Given the description of an element on the screen output the (x, y) to click on. 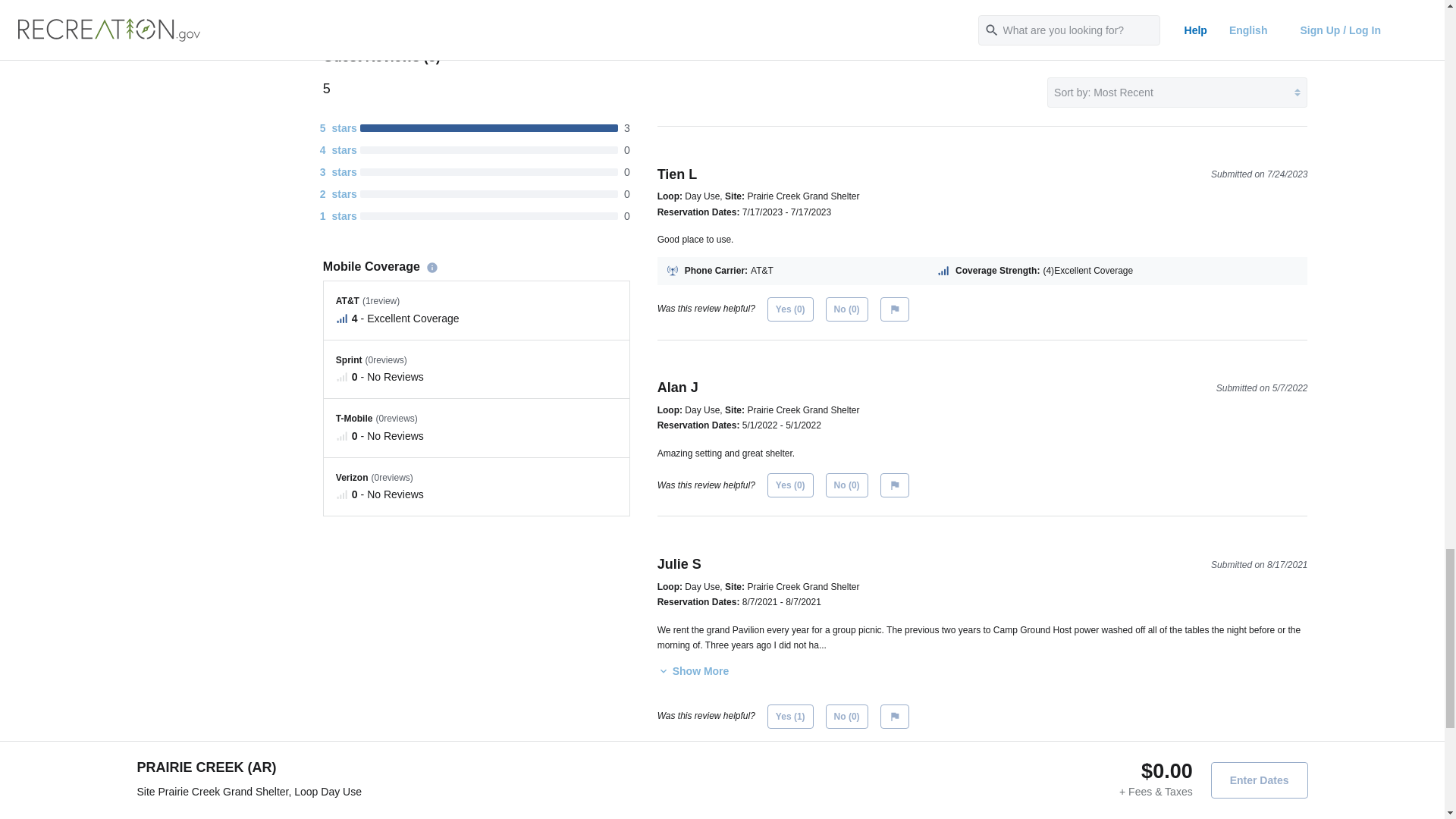
Flag review (894, 309)
Show More (693, 670)
Flag review (894, 485)
